Given the description of an element on the screen output the (x, y) to click on. 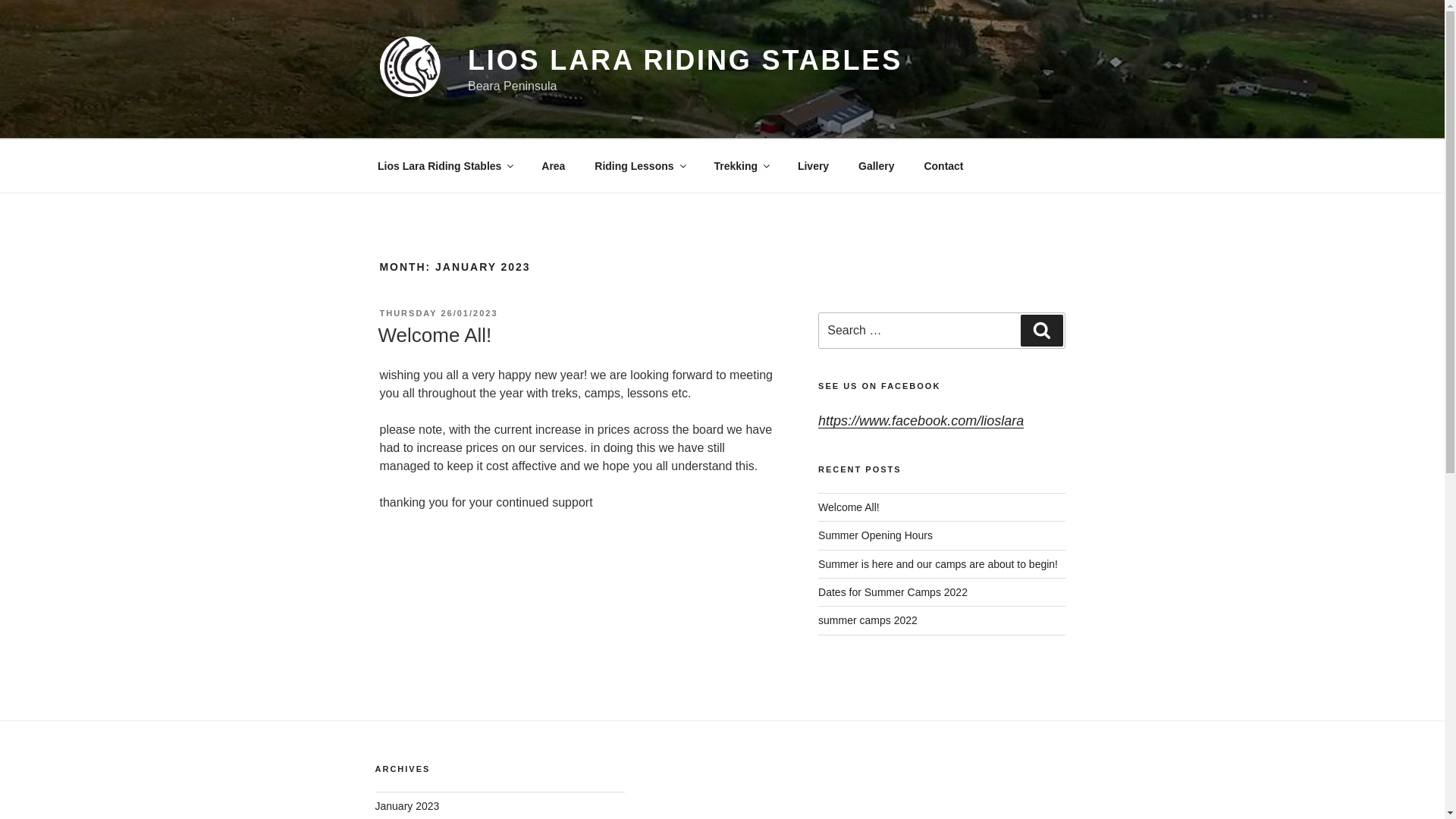
January 2023 (406, 806)
LIOS LARA RIDING STABLES (684, 60)
Area (553, 165)
Summer Opening Hours (875, 535)
Riding Lessons (638, 165)
Dates for Summer Camps 2022 (893, 592)
summer camps 2022 (867, 620)
Welcome All! (434, 334)
Summer is here and our camps are about to begin! (938, 563)
Welcome All! (848, 507)
